Given the description of an element on the screen output the (x, y) to click on. 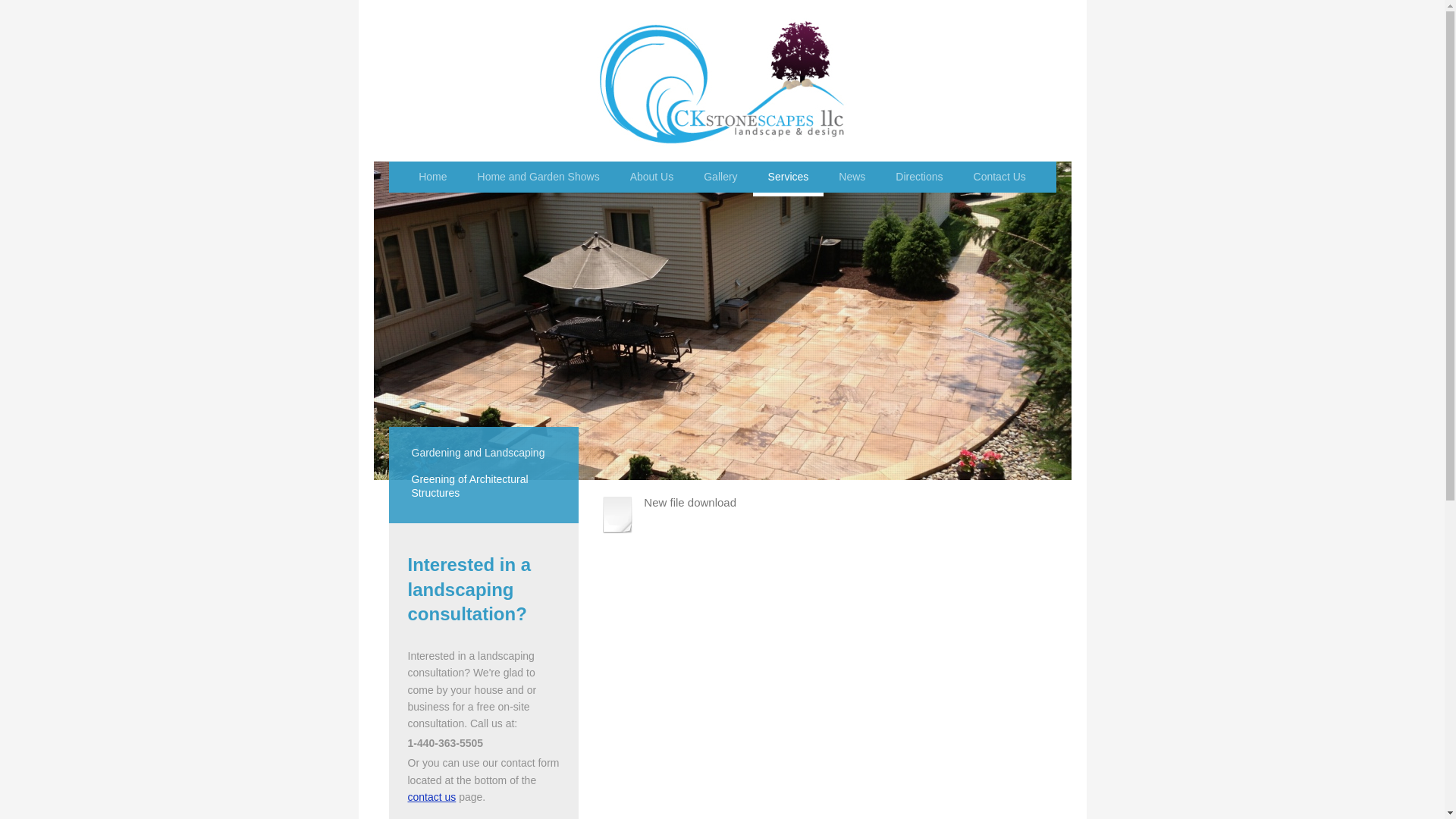
Home and Garden Shows (538, 178)
Contact Us (999, 178)
Greening of Architectural Structures (483, 487)
About Us (651, 178)
Directions (919, 178)
Gallery (720, 178)
Gardening and Landscaping (478, 454)
contact us (432, 797)
Services (788, 178)
News (852, 178)
Home (432, 178)
